Given the description of an element on the screen output the (x, y) to click on. 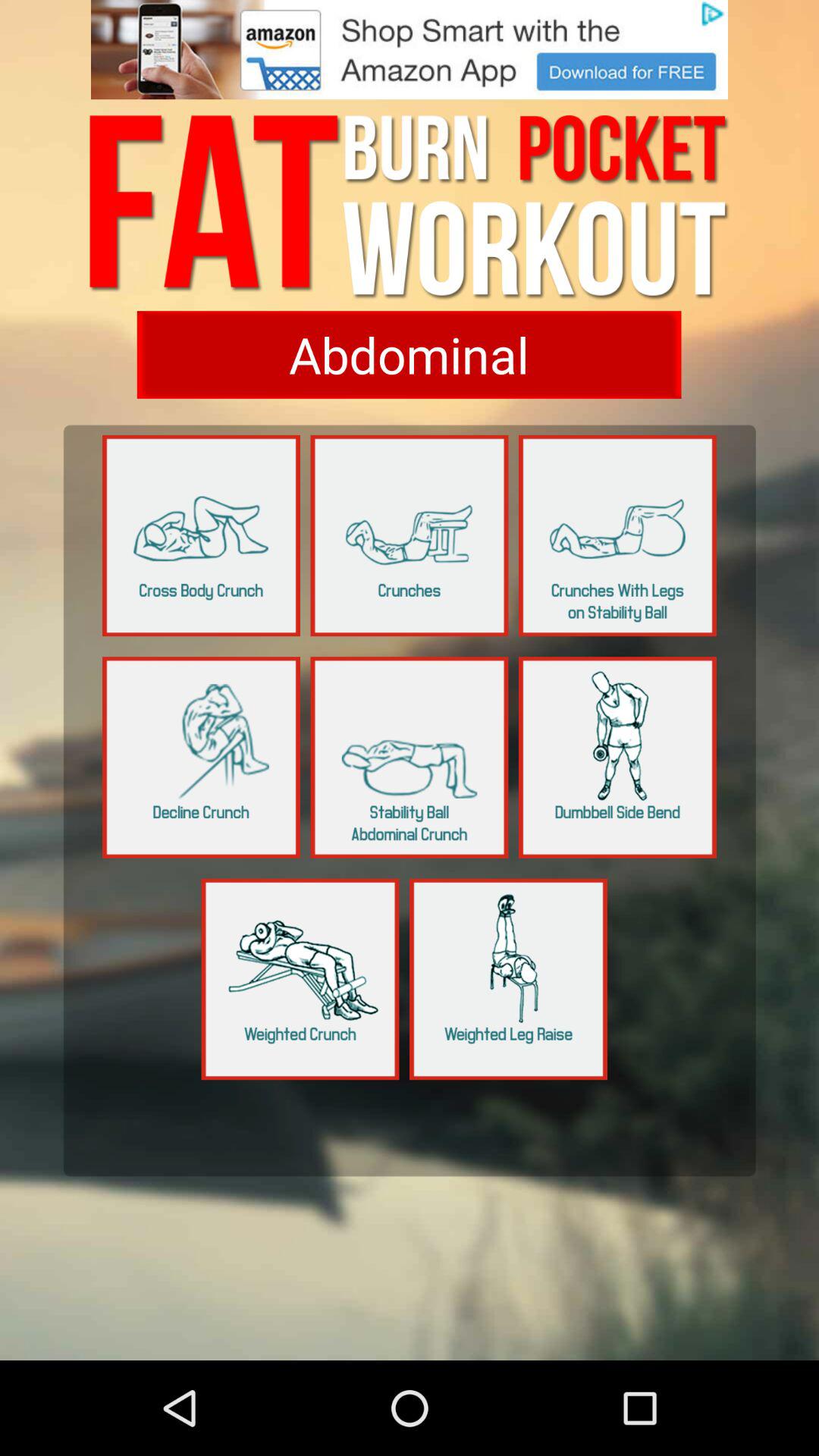
add image icon (409, 49)
